Given the description of an element on the screen output the (x, y) to click on. 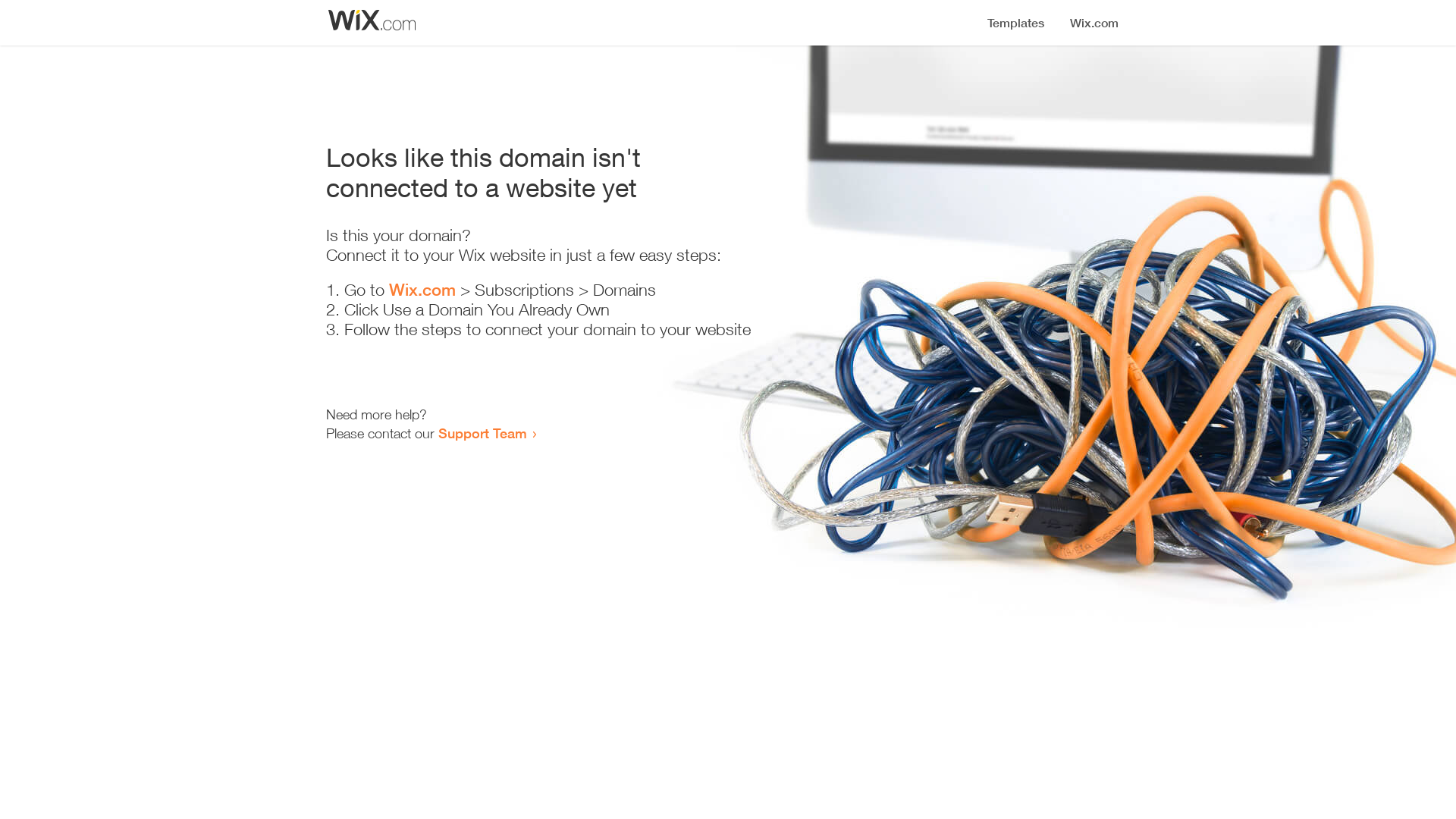
Wix.com Element type: text (422, 289)
Support Team Element type: text (482, 432)
